Given the description of an element on the screen output the (x, y) to click on. 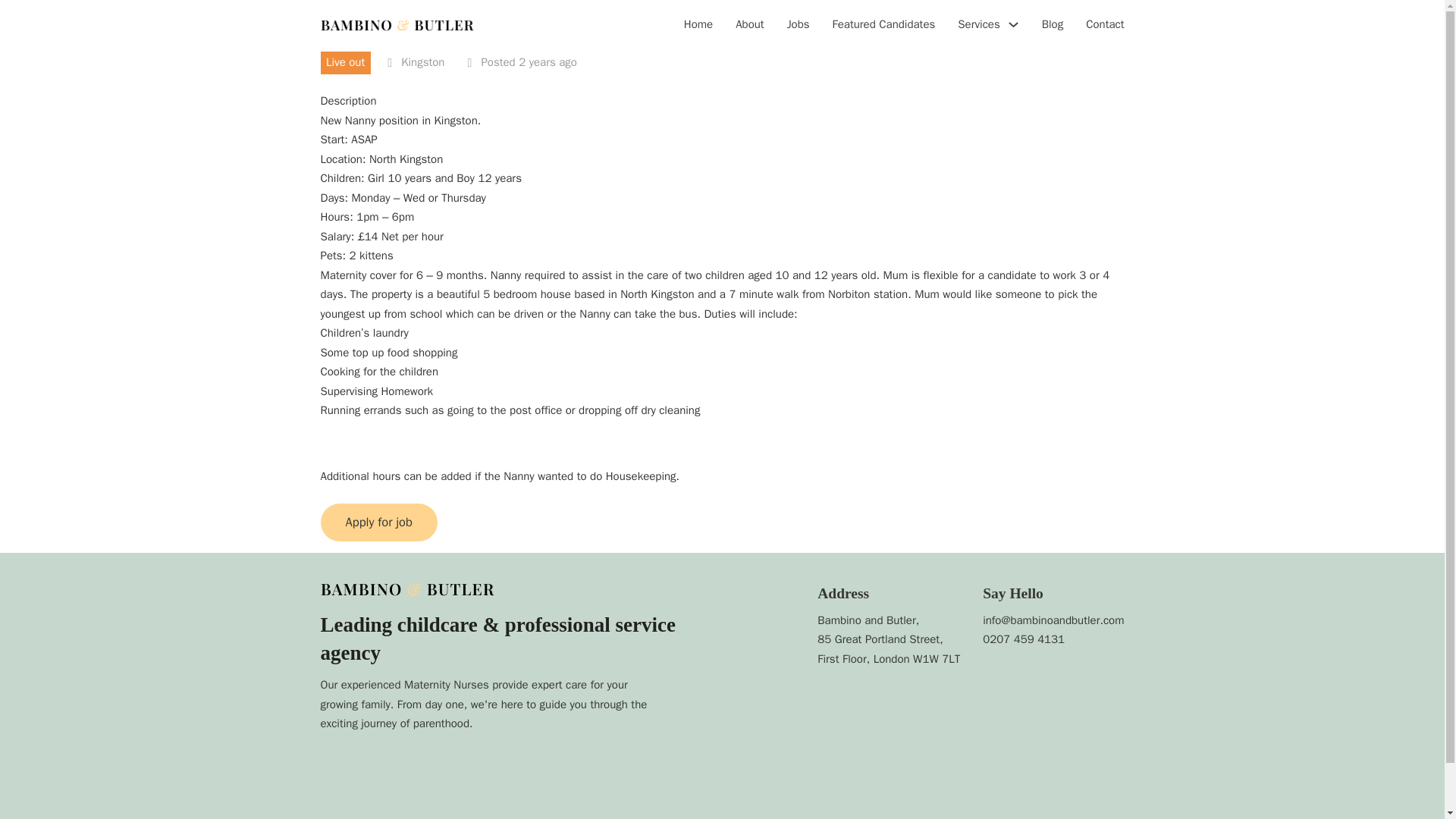
Home (698, 25)
Blog (1052, 25)
Contact (1105, 25)
Apply for job (378, 522)
Jobs (798, 25)
Services (978, 25)
Kingston (422, 61)
About (748, 25)
Featured Candidates (884, 25)
